Given the description of an element on the screen output the (x, y) to click on. 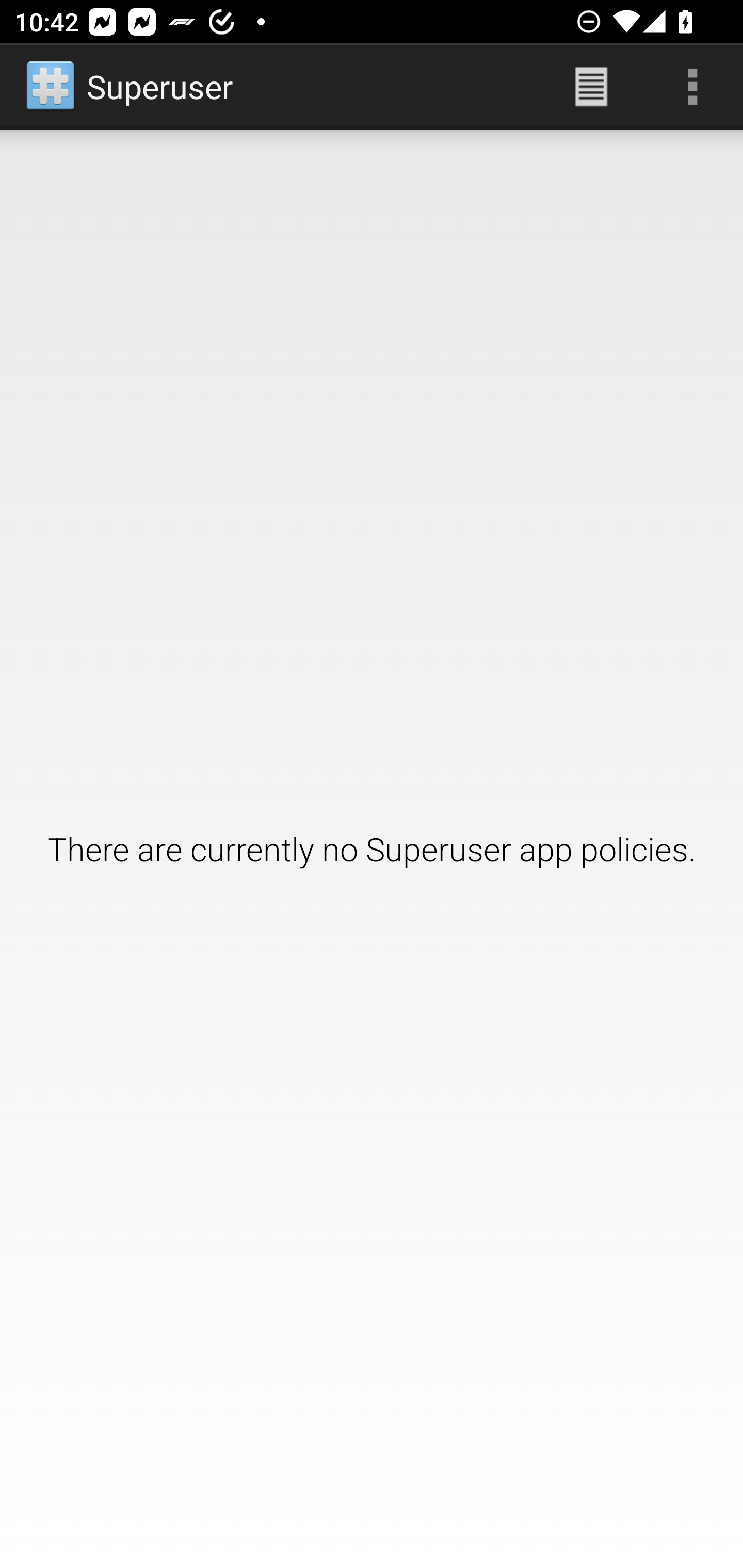
Superuser (130, 86)
Logs (590, 86)
More options (692, 86)
